Given the description of an element on the screen output the (x, y) to click on. 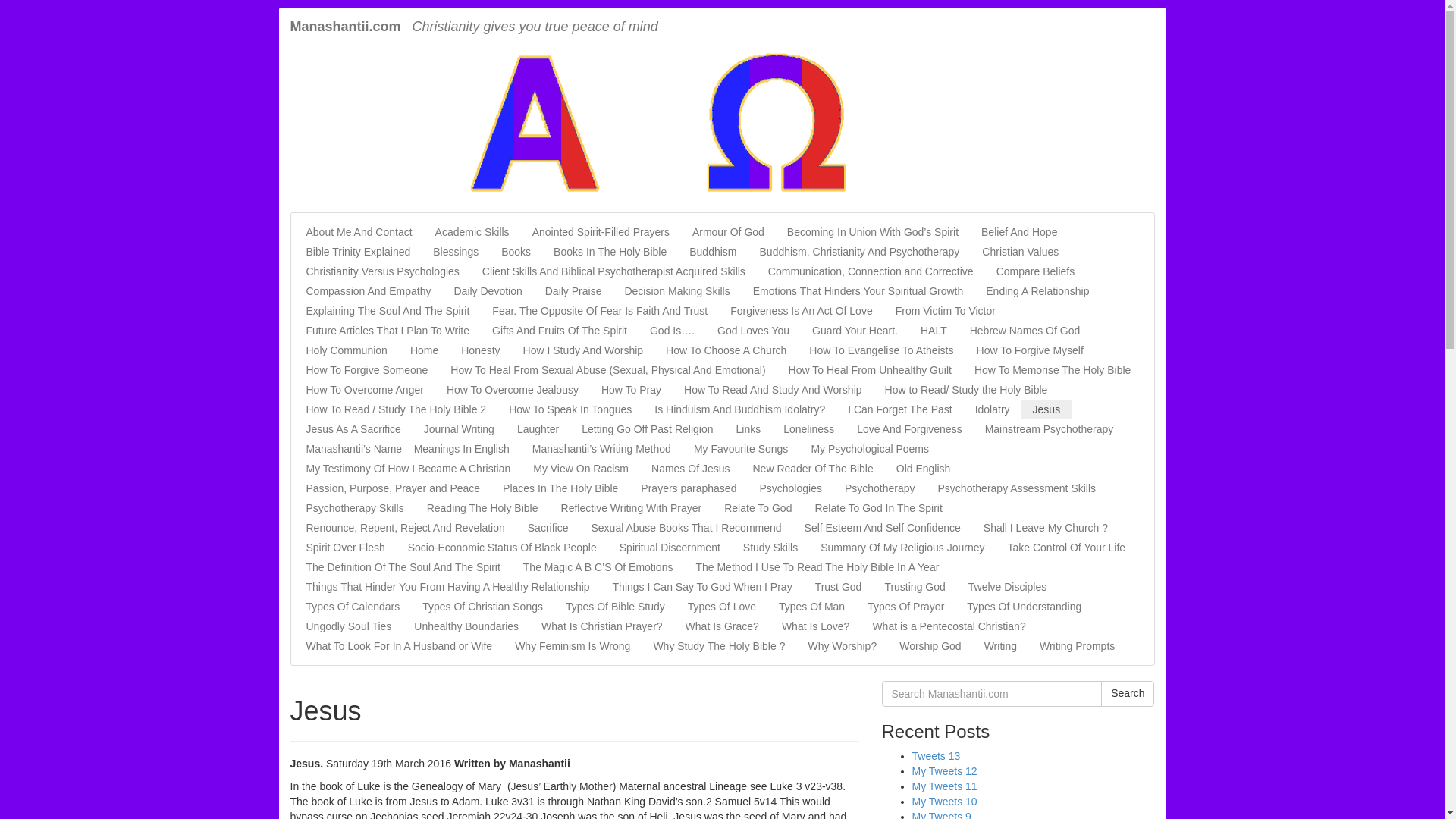
Academic Skills (472, 231)
Decision Making Skills (676, 291)
Compare Beliefs (1035, 271)
Home (423, 350)
Buddhism, Christianity And Psychotherapy (859, 251)
Books In The Holy Bible (609, 251)
Books (515, 251)
Manashantii.com (345, 26)
HALT (933, 330)
Buddhism (713, 251)
